Given the description of an element on the screen output the (x, y) to click on. 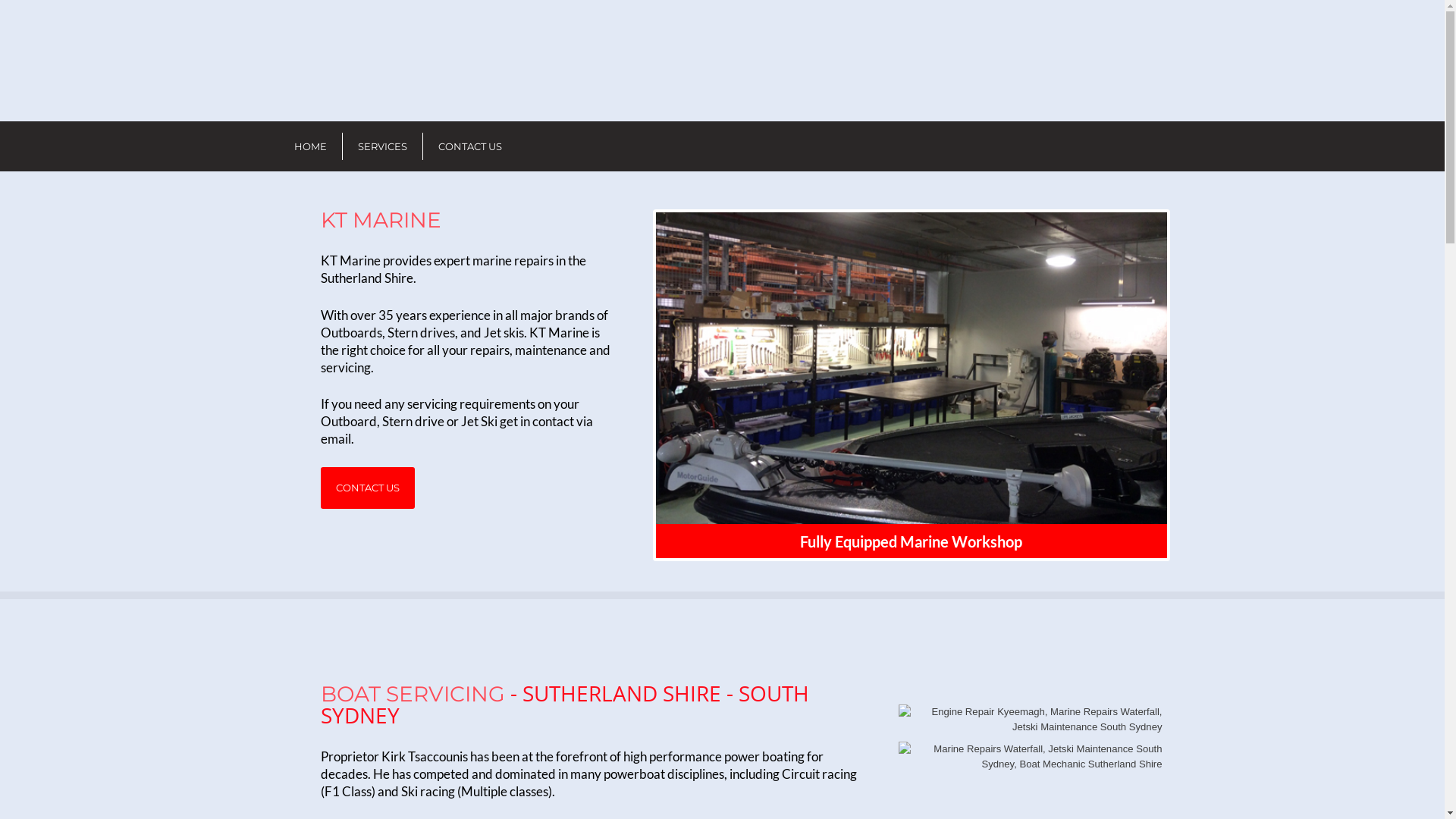
CONTACT US Element type: text (367, 488)
Outdoor Motor Repairs Waterfall Element type: hover (911, 368)
CONTACT US Element type: text (470, 146)
HOME Element type: text (310, 146)
Engine Repair Kyeemagh Element type: hover (1029, 719)
SERVICES Element type: text (382, 146)
Marine Repairs Waterfall Element type: hover (1029, 756)
